Given the description of an element on the screen output the (x, y) to click on. 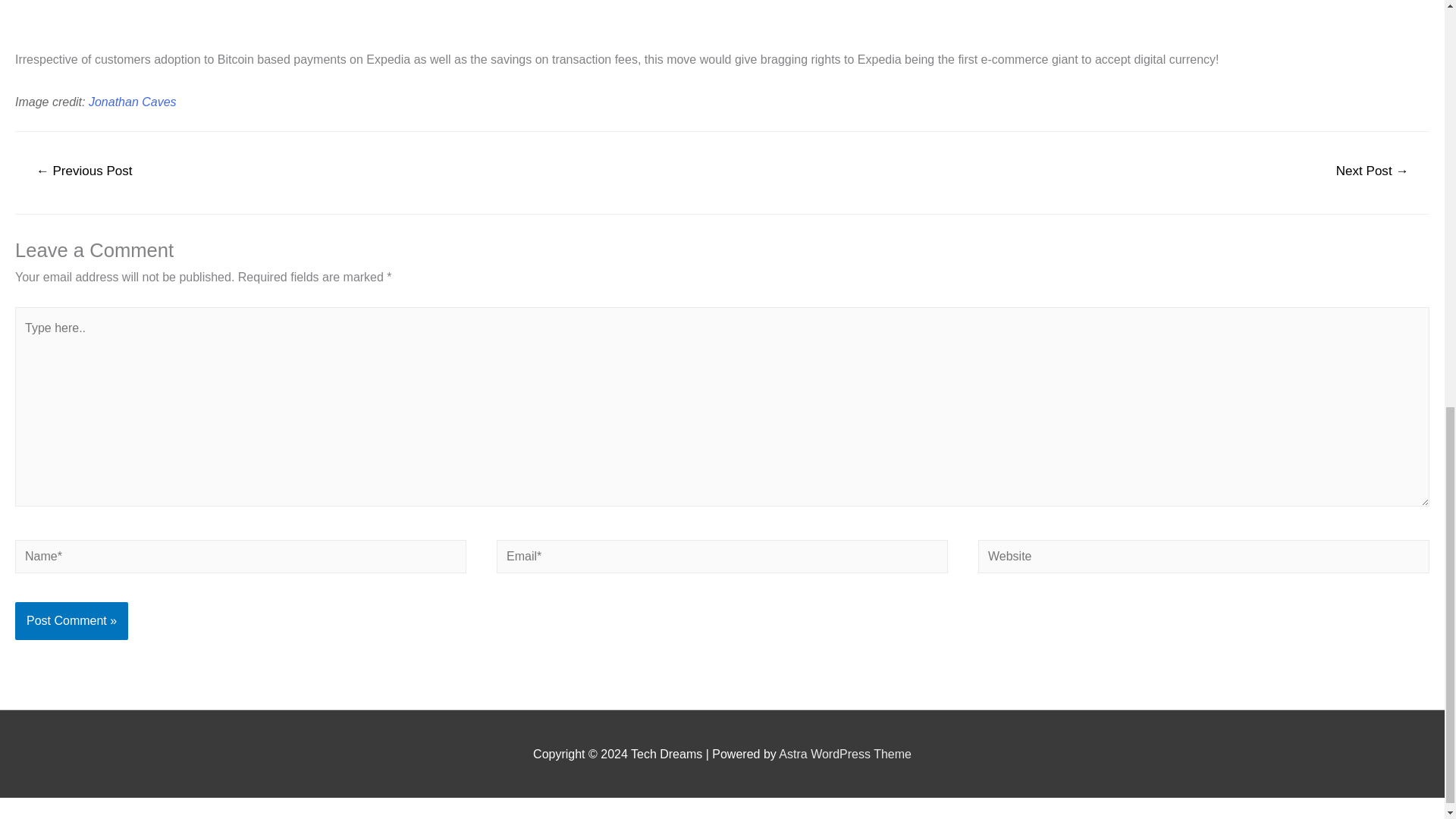
Astra WordPress Theme (844, 753)
Advertisement (469, 21)
Jonathan Caves (132, 101)
